Given the description of an element on the screen output the (x, y) to click on. 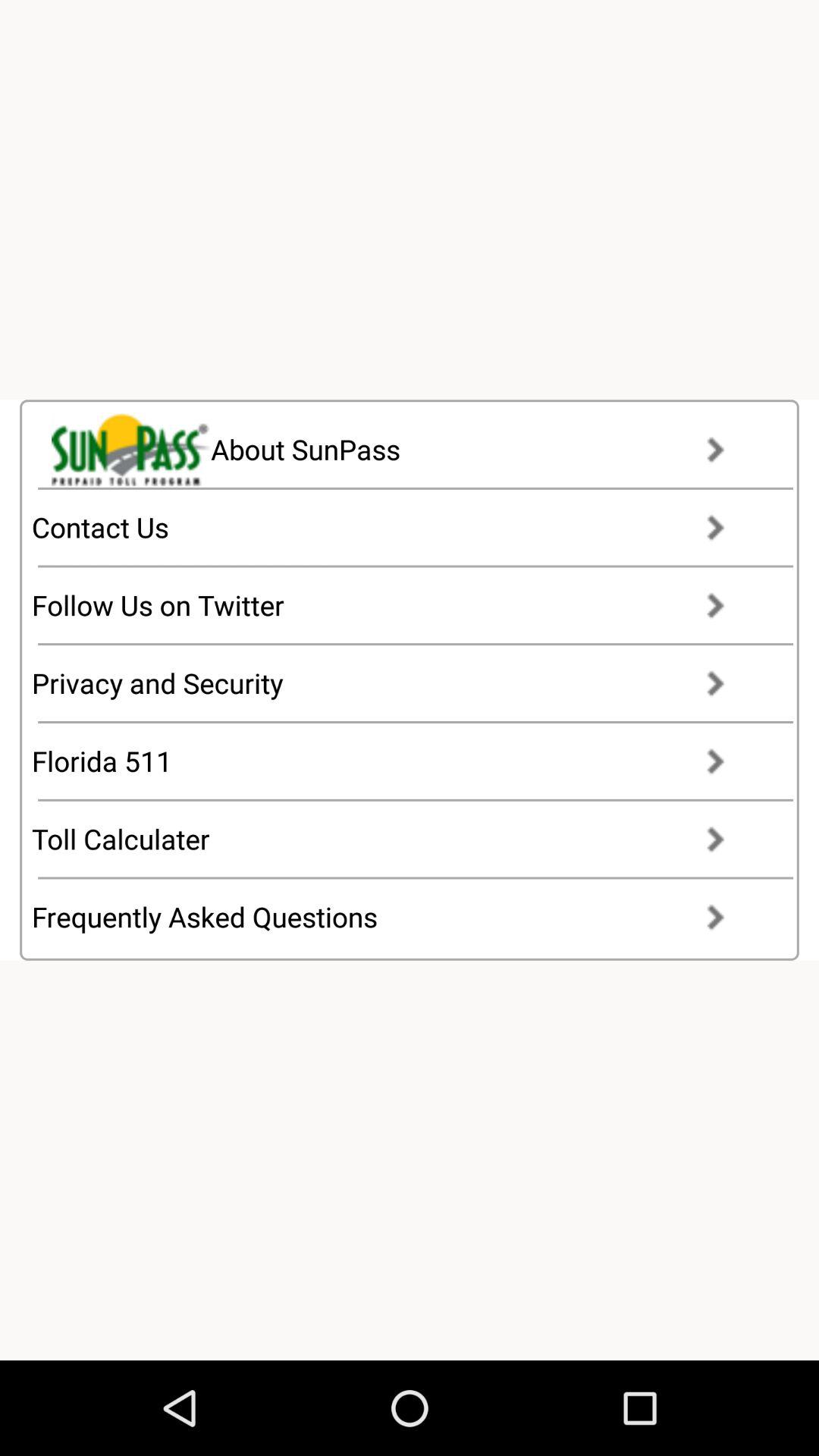
tap about sunpass item (402, 449)
